Given the description of an element on the screen output the (x, y) to click on. 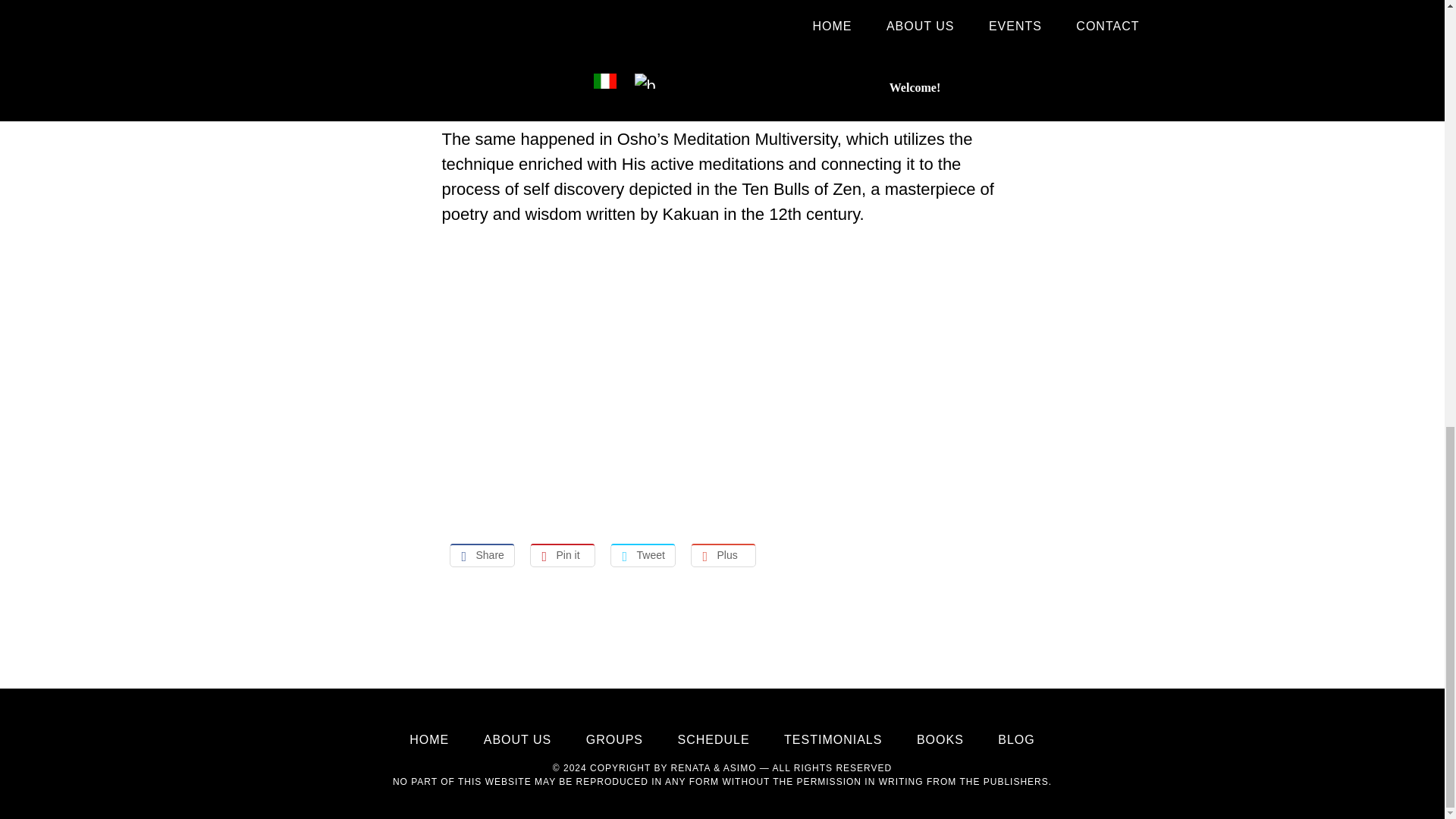
ABOUT US (517, 739)
Plus (722, 555)
BLOG (1015, 739)
Share (480, 555)
TESTIMONIALS (833, 739)
Share on Pinterest (561, 555)
HOME (428, 739)
GROUPS (614, 739)
Share on Facebook (480, 555)
BOOKS (940, 739)
